Given the description of an element on the screen output the (x, y) to click on. 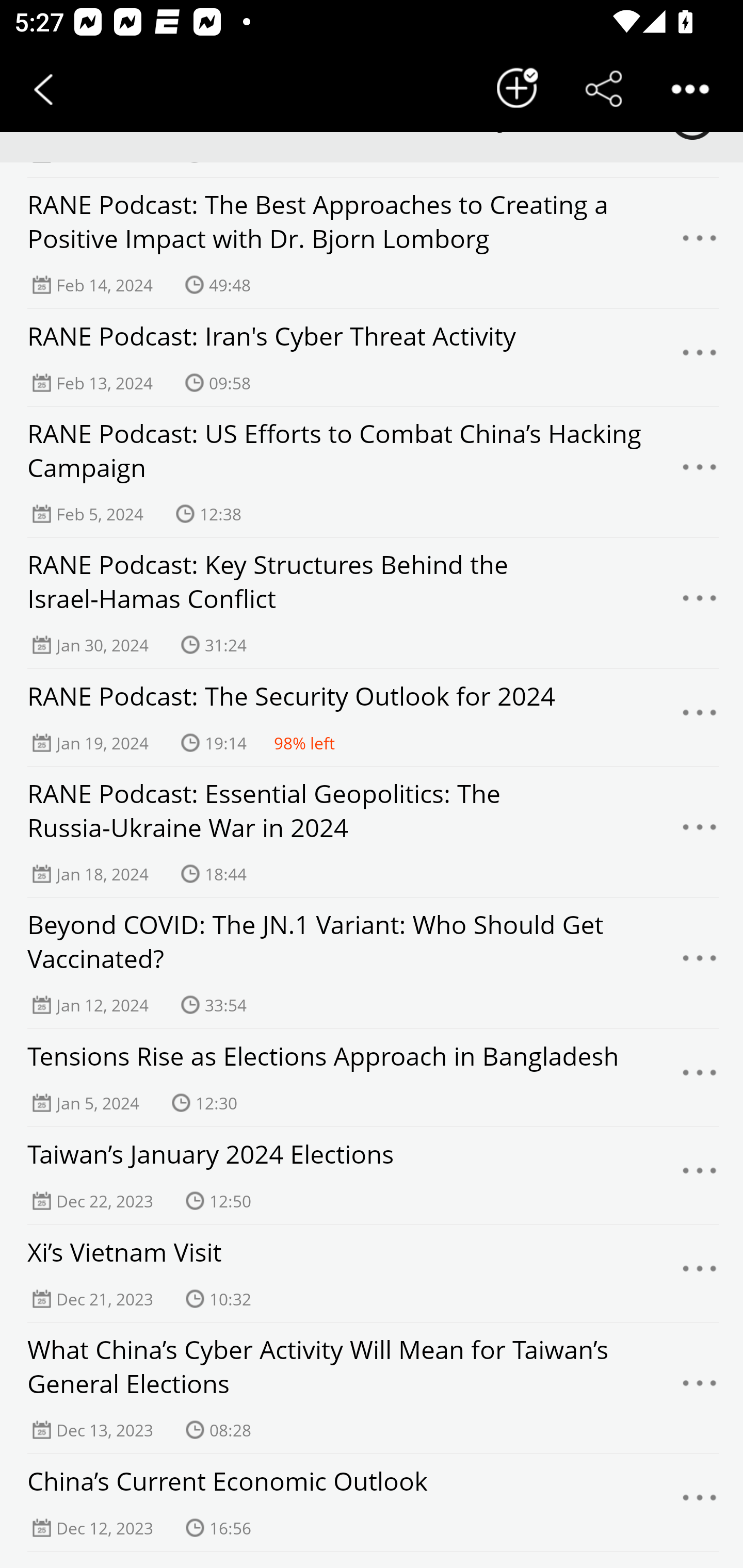
Back (43, 88)
Menu (699, 243)
Menu (699, 358)
Menu (699, 472)
Menu (699, 602)
Menu (699, 718)
Menu (699, 832)
Menu (699, 963)
Menu (699, 1077)
Menu (699, 1175)
Xi’s Vietnam Visit Dec 21, 2023 10:32 Menu (371, 1273)
Menu (699, 1273)
Menu (699, 1388)
Menu (699, 1502)
